Given the description of an element on the screen output the (x, y) to click on. 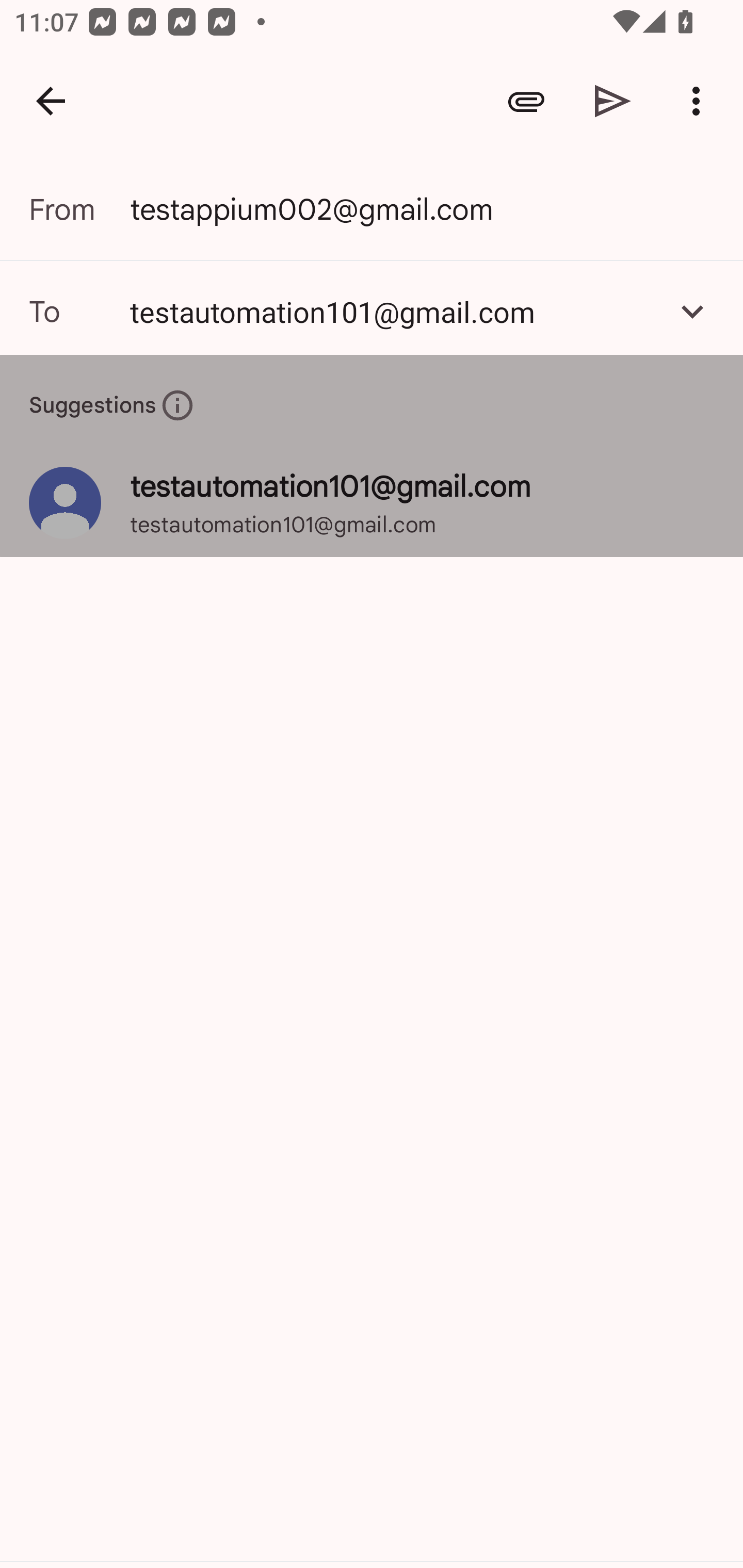
Navigate up (50, 101)
Attach file (525, 101)
Send (612, 101)
More options (699, 101)
From (79, 209)
Add Cc/Bcc (692, 311)
testautomation101@gmail.com (371, 311)
testautomation101@gmail.com (393, 311)
